Given the description of an element on the screen output the (x, y) to click on. 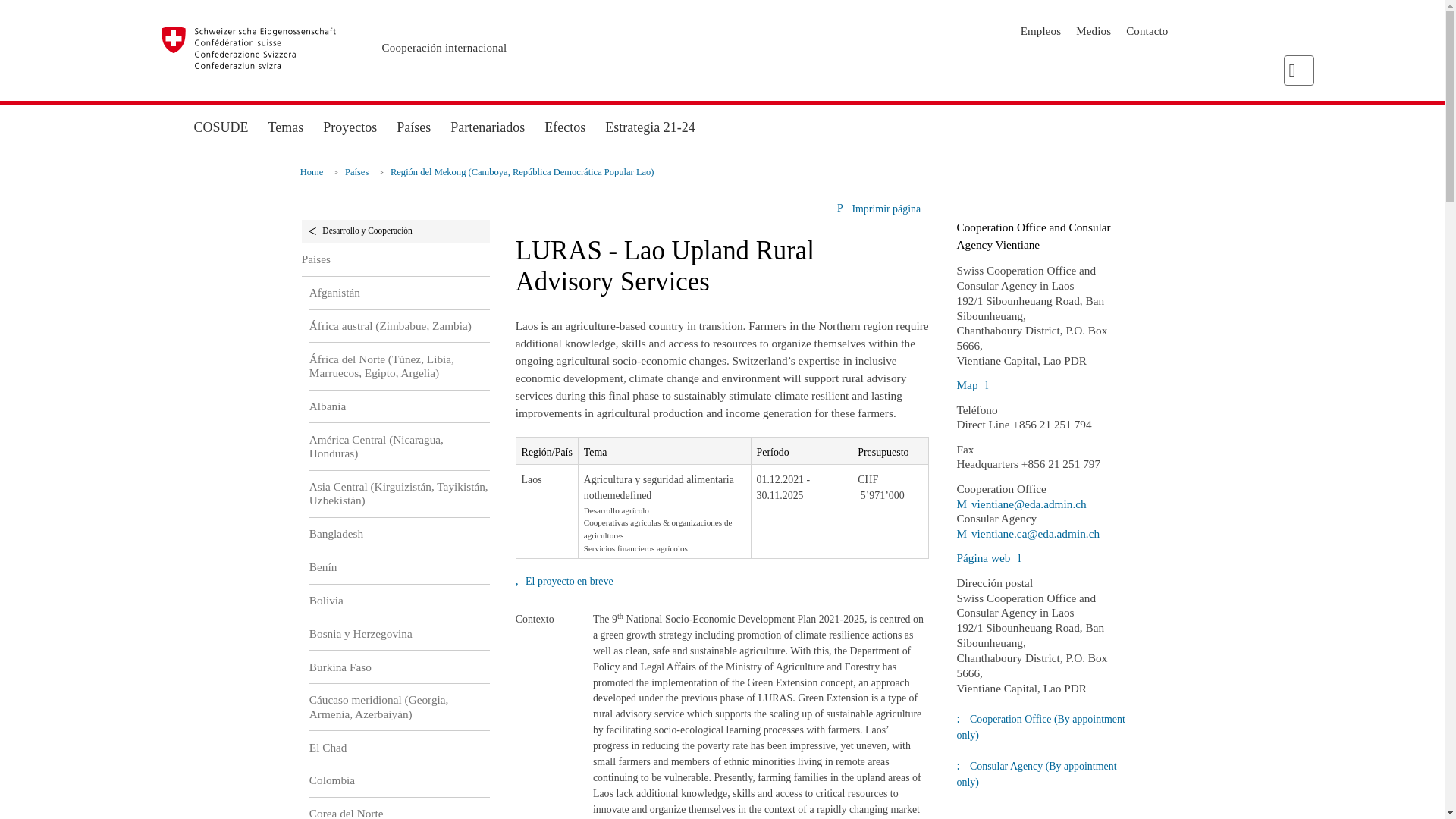
Empleos (1040, 30)
Contacto (1146, 30)
Texto oculto (988, 557)
Temas (286, 127)
Medios (1092, 30)
Texto oculto (1021, 503)
Texto oculto (972, 384)
Texto oculto (1027, 533)
COSUDE (220, 127)
